Given the description of an element on the screen output the (x, y) to click on. 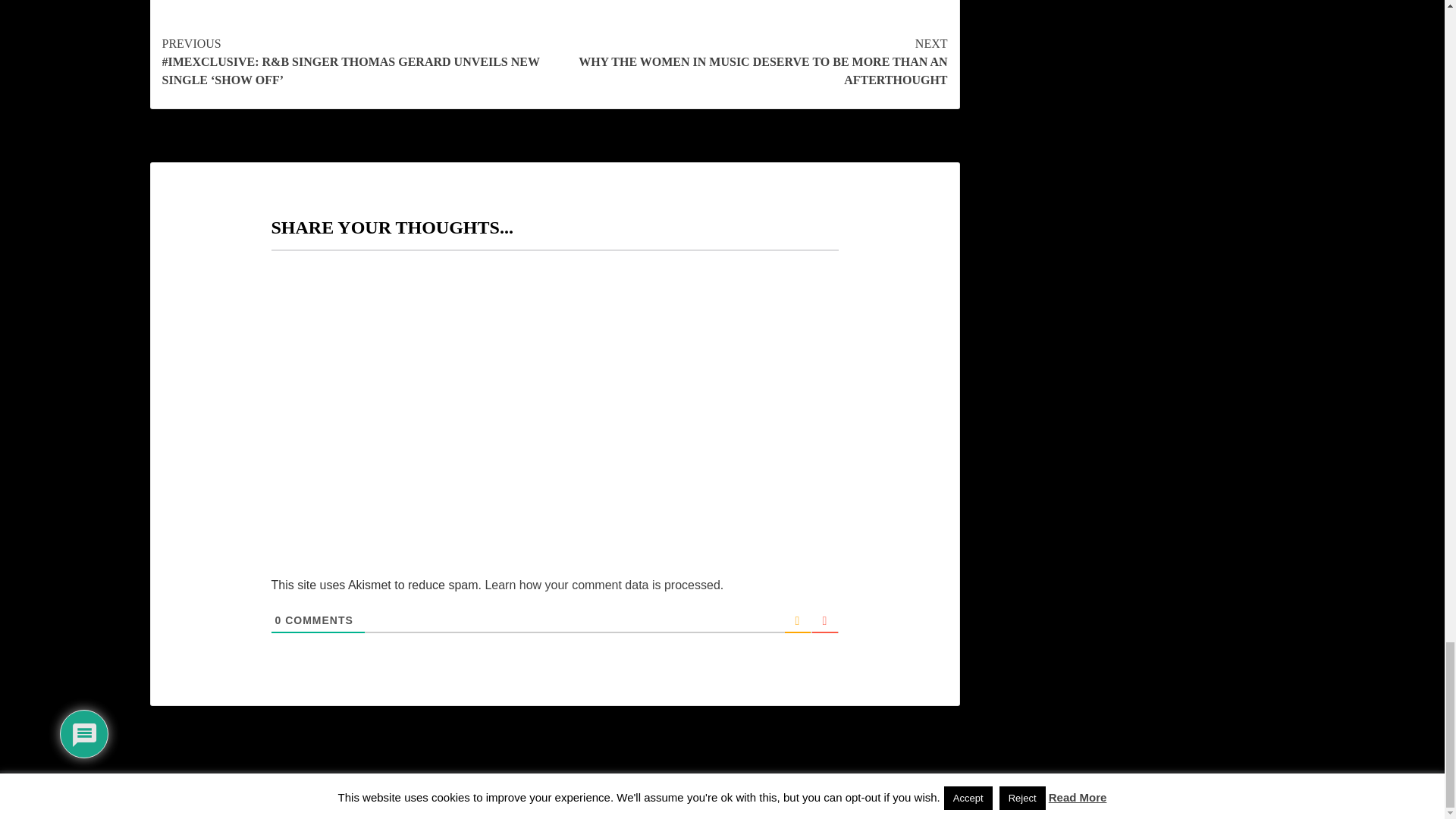
0 (278, 620)
Learn how your comment data is processed (601, 584)
Magazine 7 (770, 793)
